Given the description of an element on the screen output the (x, y) to click on. 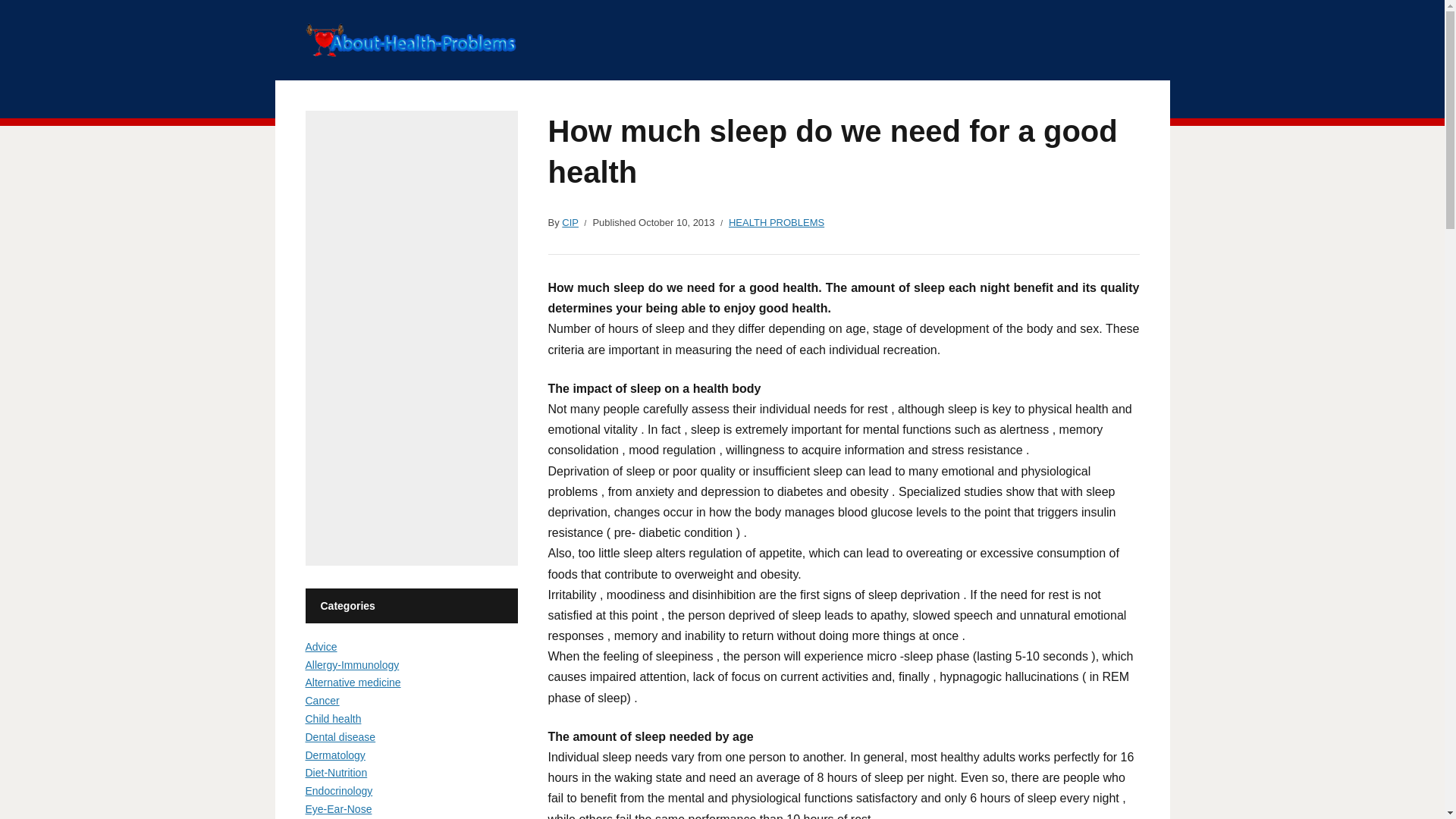
Advice (320, 646)
Endocrinology (338, 790)
Alternative medicine (352, 682)
HEALTH PROBLEMS (776, 222)
Cancer (321, 700)
Diet-Nutrition (335, 772)
Eye-Ear-Nose (337, 808)
Allergy-Immunology (351, 664)
Dermatology (334, 755)
Child health (332, 718)
